Given the description of an element on the screen output the (x, y) to click on. 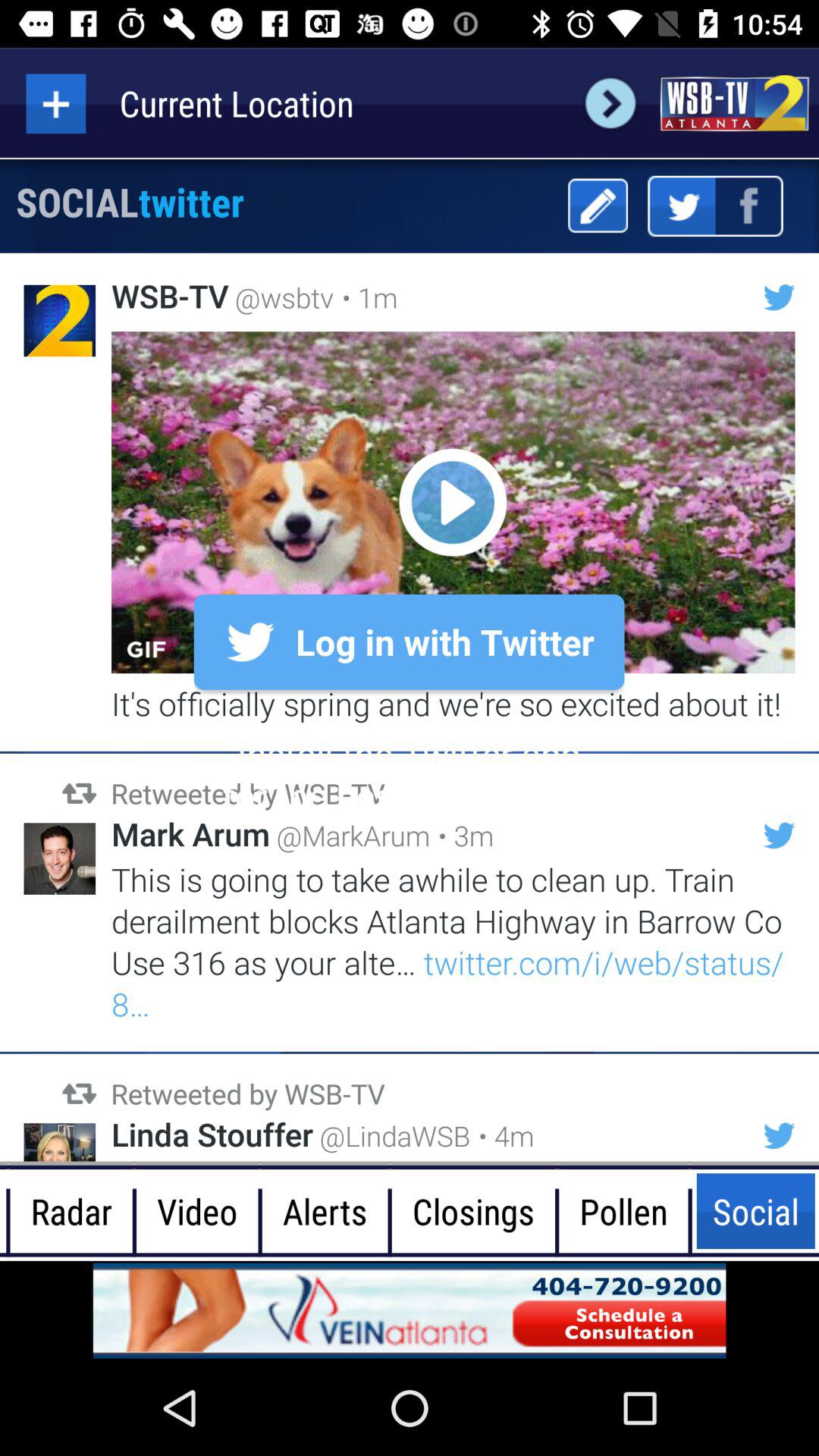
add a new location (55, 103)
